Given the description of an element on the screen output the (x, y) to click on. 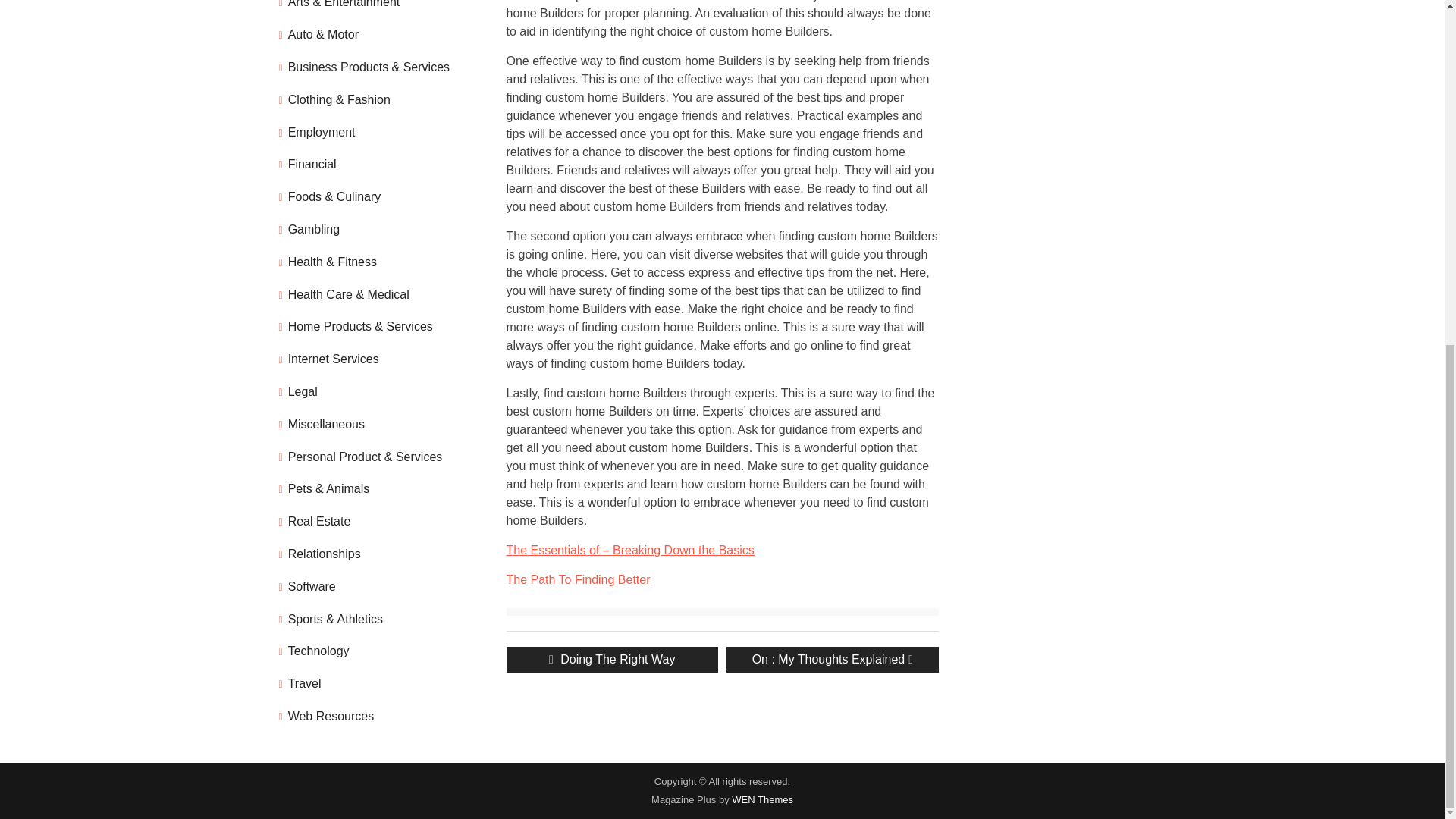
Financial (312, 164)
The Path To Finding Better (831, 659)
Employment (578, 579)
